Given the description of an element on the screen output the (x, y) to click on. 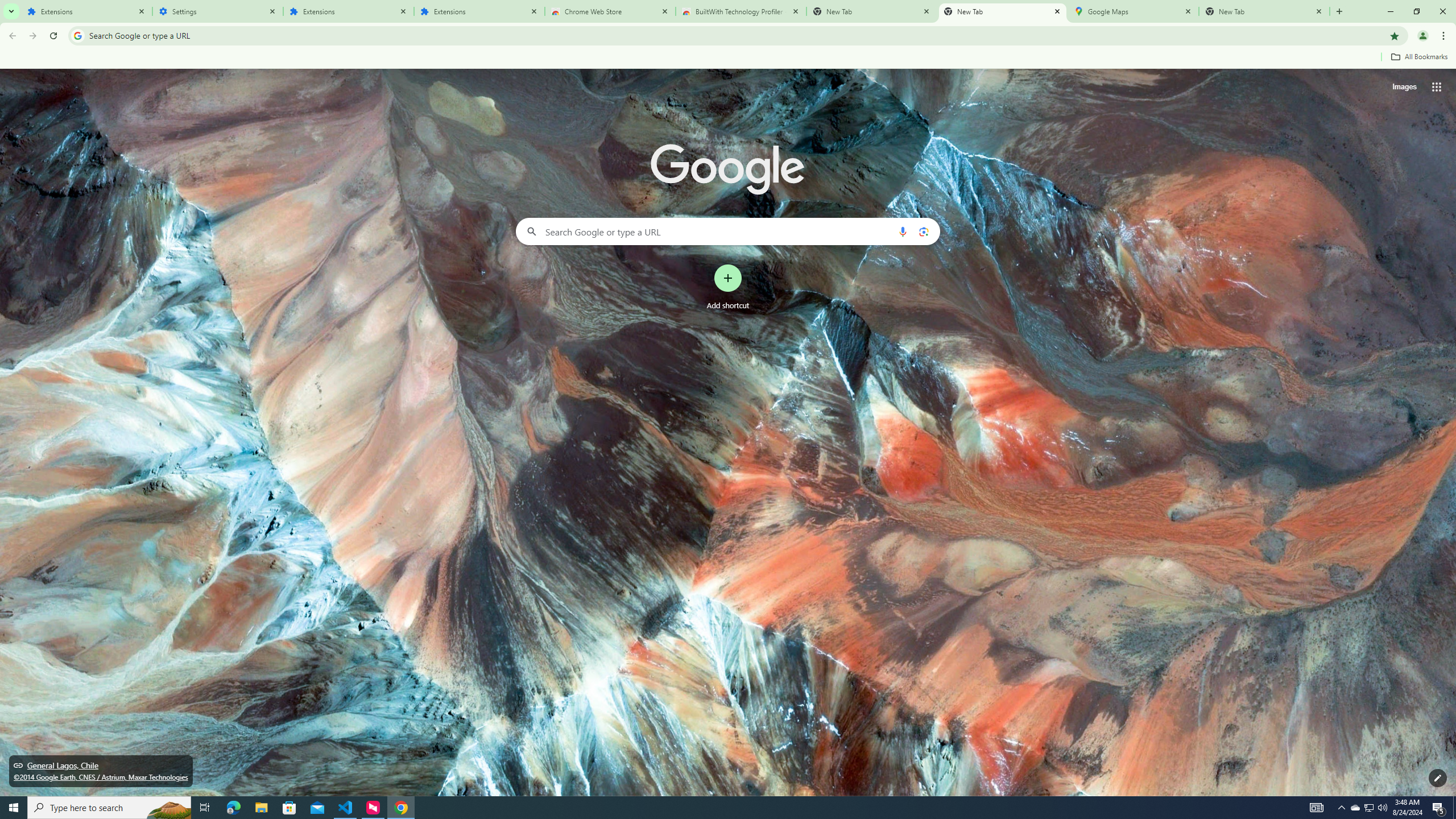
Chrome Web Store (610, 11)
Customize this page (1437, 778)
